Given the description of an element on the screen output the (x, y) to click on. 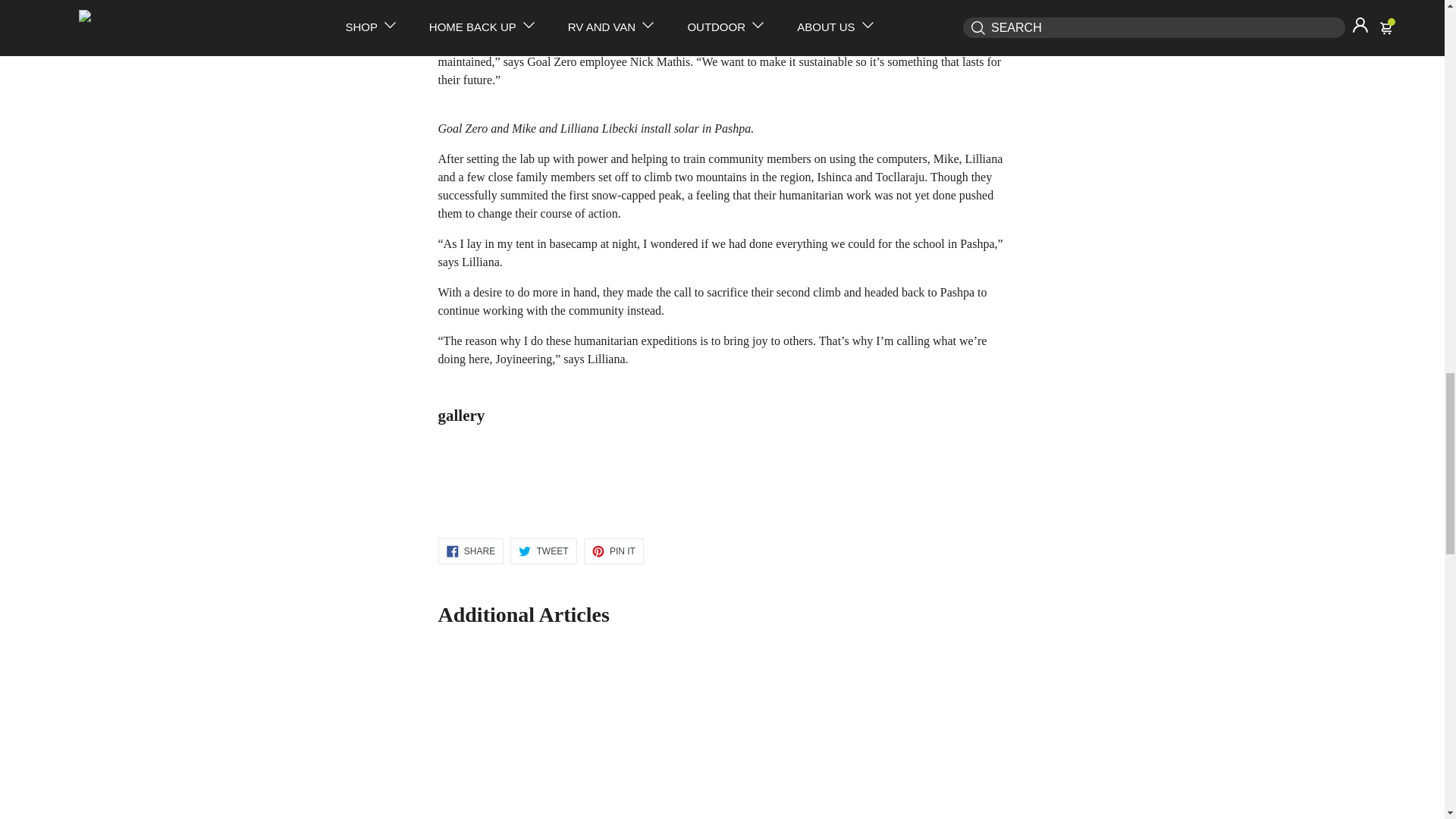
Pin on Pinterest (613, 551)
Tweet on Twitter (543, 551)
Share on Facebook (470, 551)
